Given the description of an element on the screen output the (x, y) to click on. 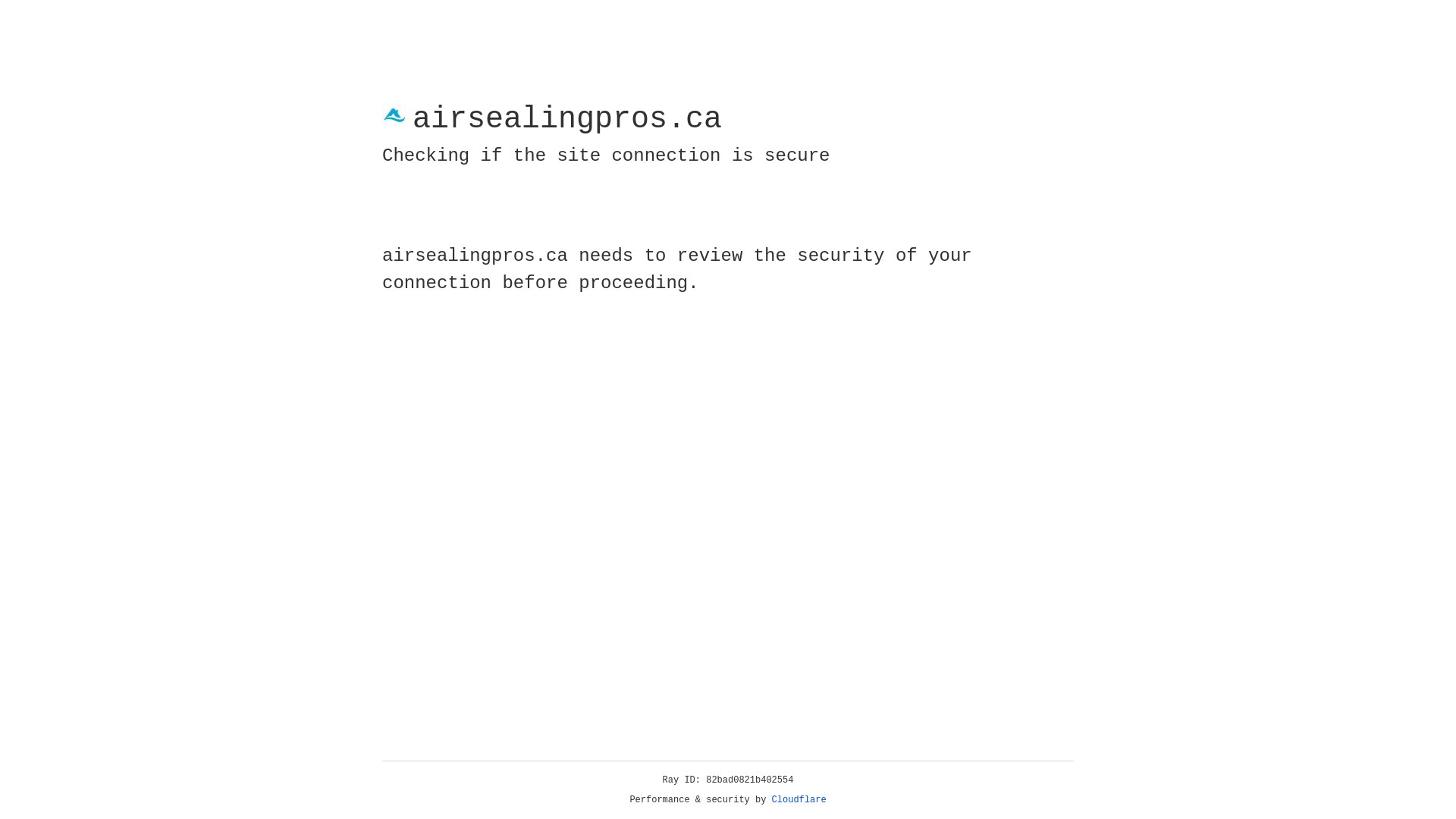
Cloudflare Element type: text (798, 799)
